Given the description of an element on the screen output the (x, y) to click on. 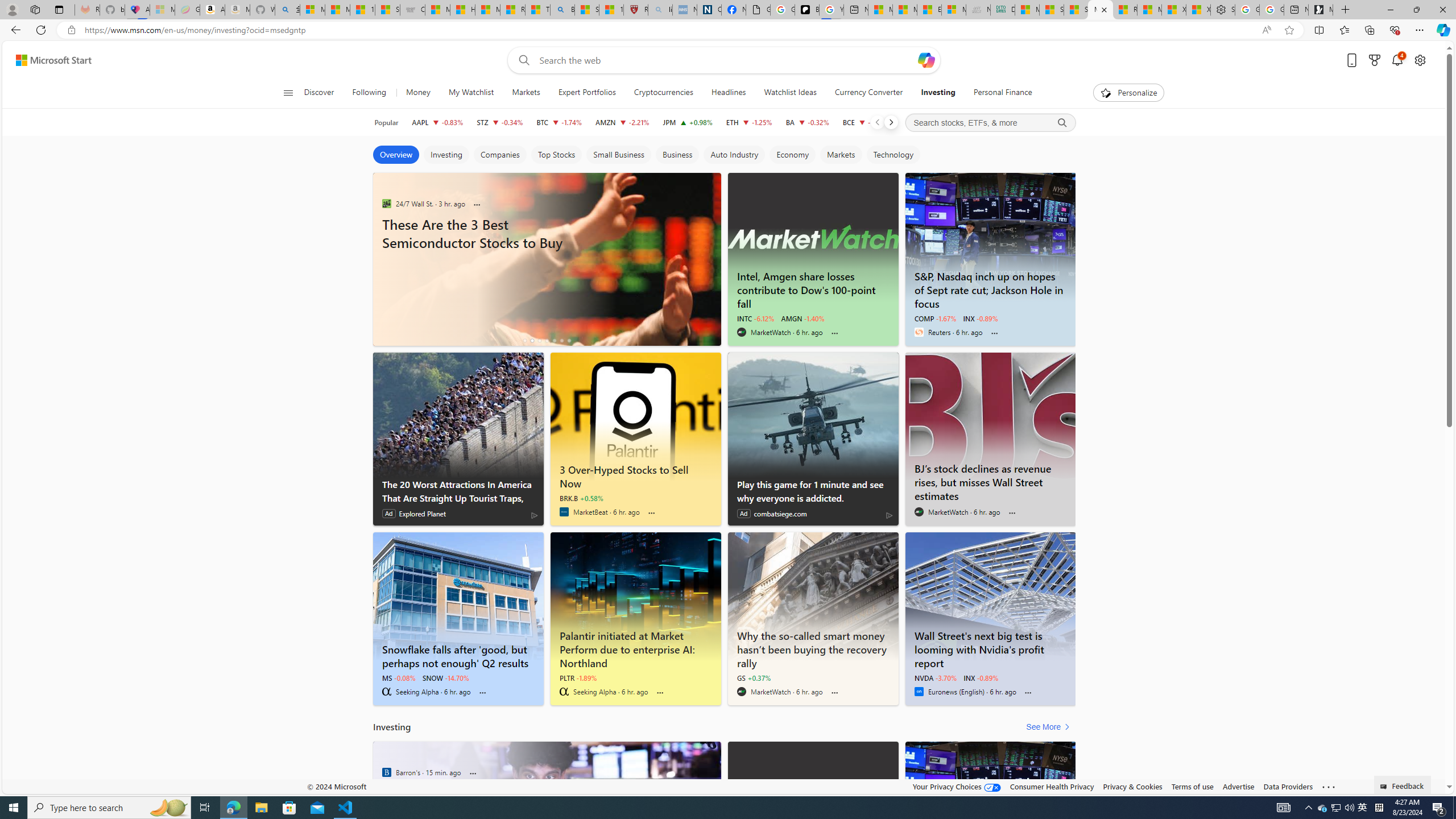
MS -0.08% (398, 677)
Companies (500, 154)
Headlines (728, 92)
Markets (840, 154)
